Given the description of an element on the screen output the (x, y) to click on. 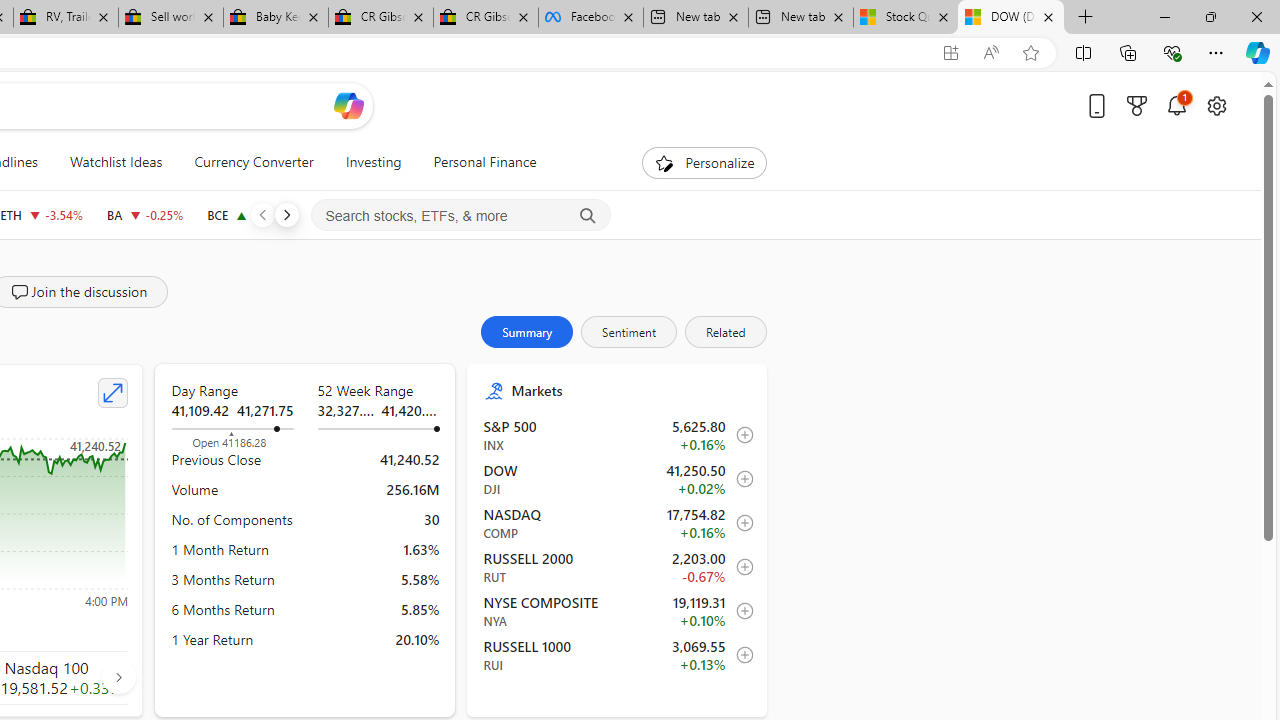
Watchlist Ideas (115, 162)
BCE BCE Inc increase 35.22 +0.08 +0.23% (249, 214)
Notifications (1176, 105)
BA THE BOEING COMPANY decrease 173.05 -0.43 -0.25% (144, 214)
Currency Converter (253, 162)
Related (724, 331)
Add to Watchlist (739, 655)
